Given the description of an element on the screen output the (x, y) to click on. 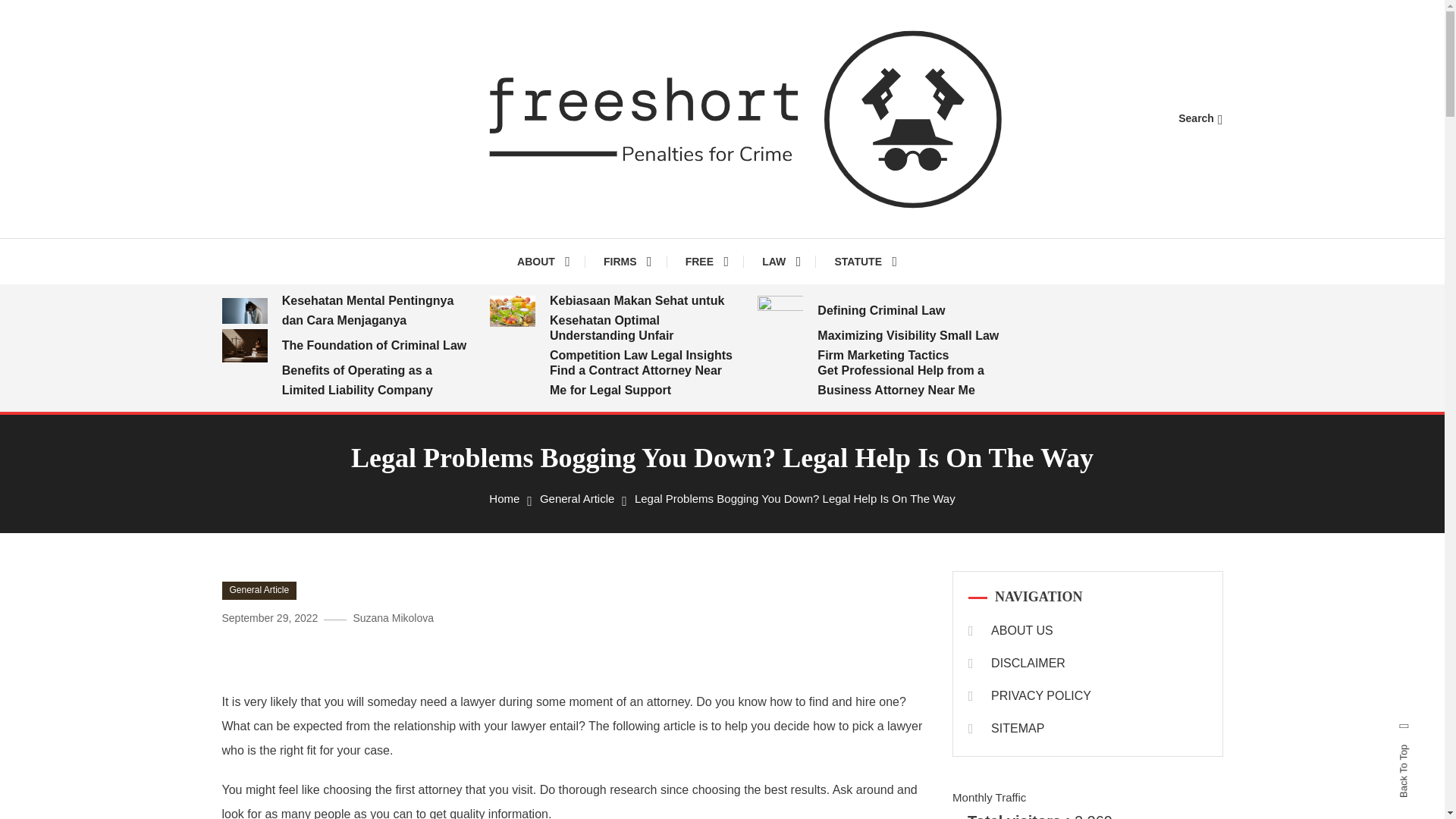
Defining Criminal Law (911, 311)
FREESHORT (551, 254)
Skip To Content (40, 10)
FREE (706, 261)
The Foundation of Criminal Law (376, 345)
LAW (780, 261)
FIRMS (627, 261)
Search (1200, 118)
Kesehatan Mental Pentingnya dan Cara Menjaganya (376, 310)
Search (768, 434)
Kebiasaan Makan Sehat untuk Kesehatan Optimal (644, 310)
Understanding Unfair Competition Law Legal Insights (644, 345)
STATUTE (864, 261)
ABOUT (550, 261)
